Given the description of an element on the screen output the (x, y) to click on. 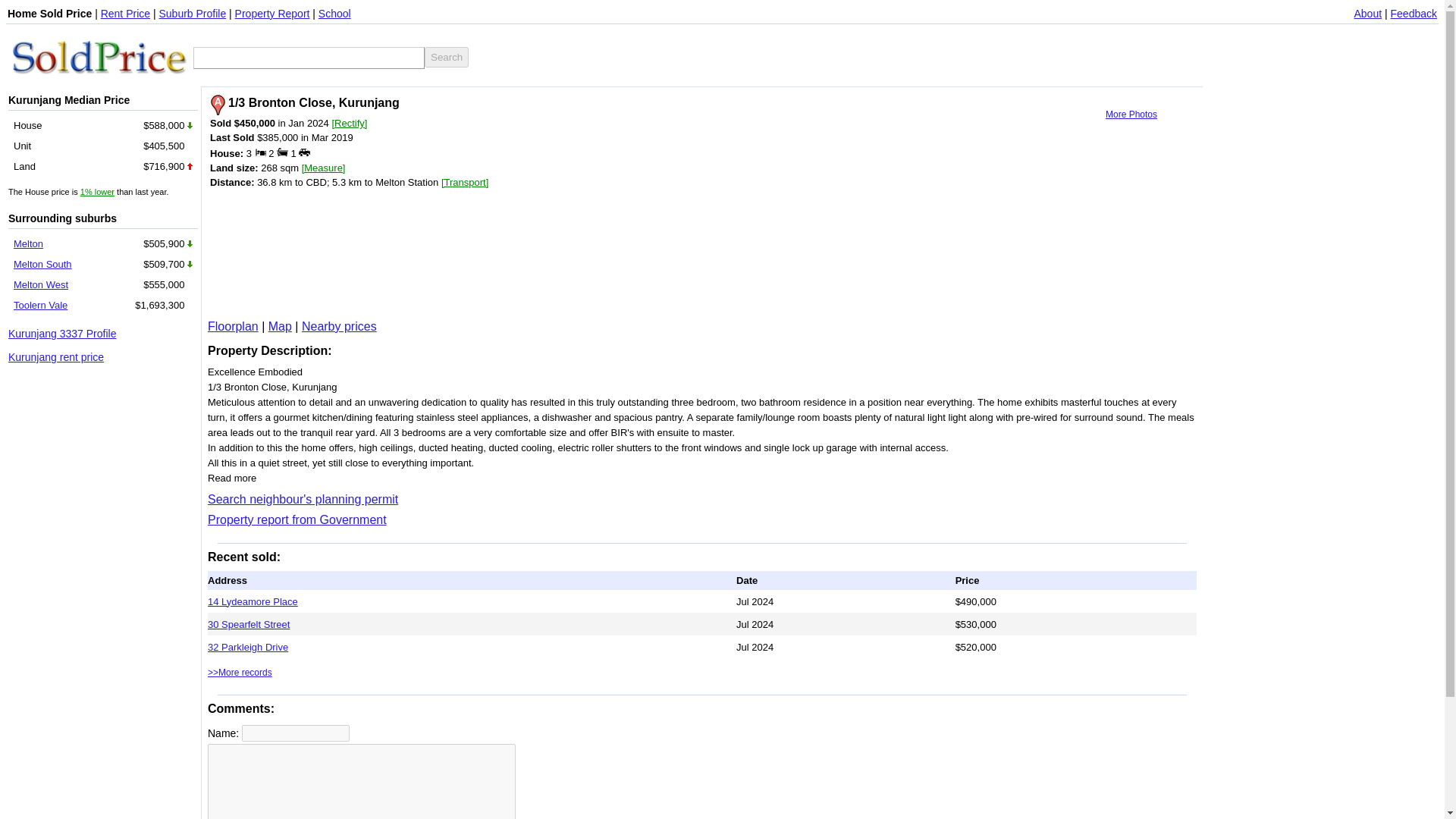
About (1367, 13)
Property Report (272, 13)
Correct the sold price (348, 122)
Search (446, 56)
View median house price history data (97, 191)
Suburb Profile (191, 13)
Kurunjang 3337 Profile (62, 333)
Rent Price (124, 13)
14 Lydeamore Place (253, 601)
Nearby prices (339, 326)
Map (279, 326)
Search neighbour's planning permit (302, 499)
More Photos (1131, 113)
Toolern Vale (39, 305)
32 Parkleigh Drive (248, 646)
